Given the description of an element on the screen output the (x, y) to click on. 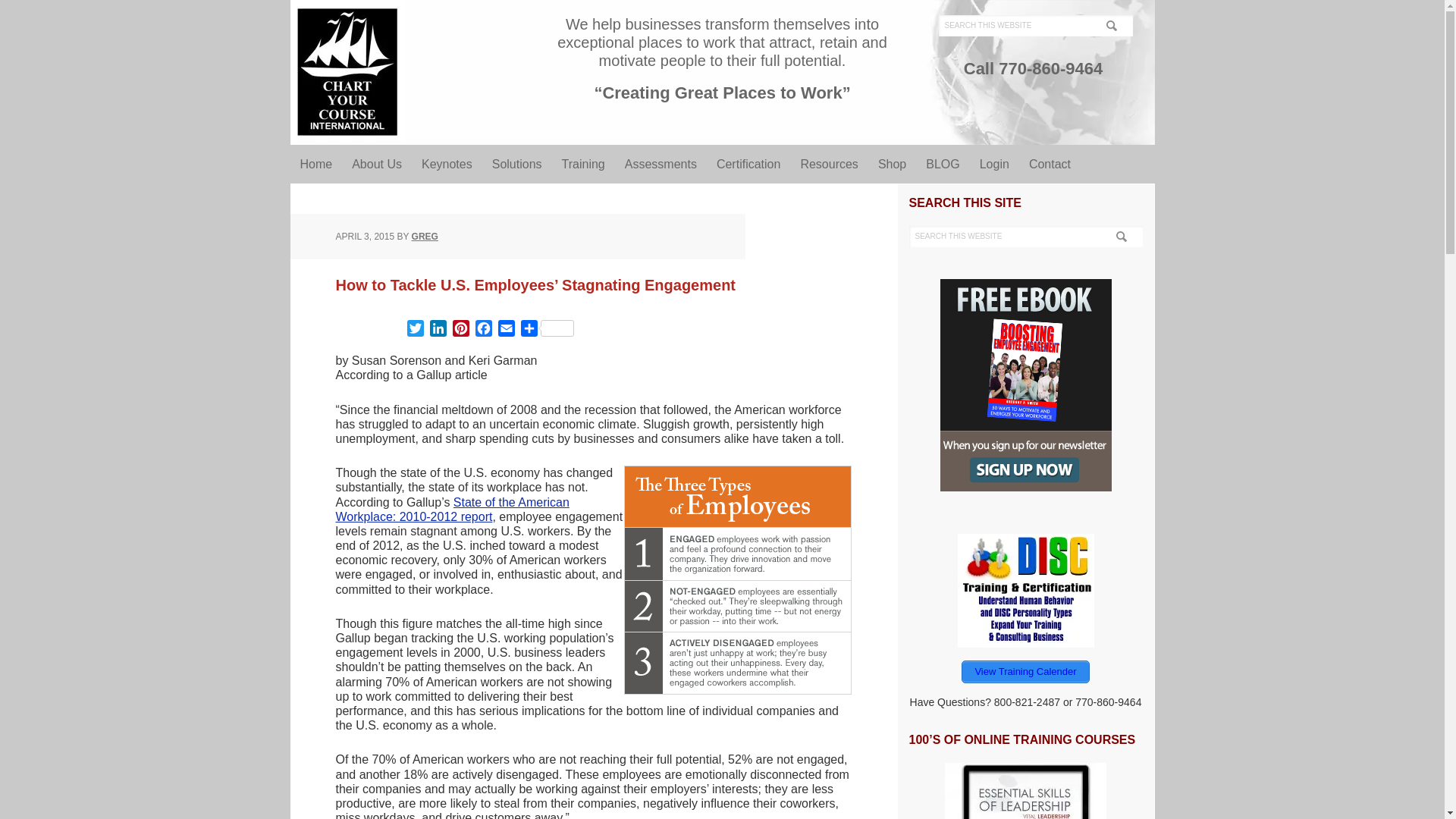
LinkedIn (437, 330)
Solutions (516, 163)
Twitter (414, 330)
Email (505, 330)
DISC Training (1024, 590)
